Given the description of an element on the screen output the (x, y) to click on. 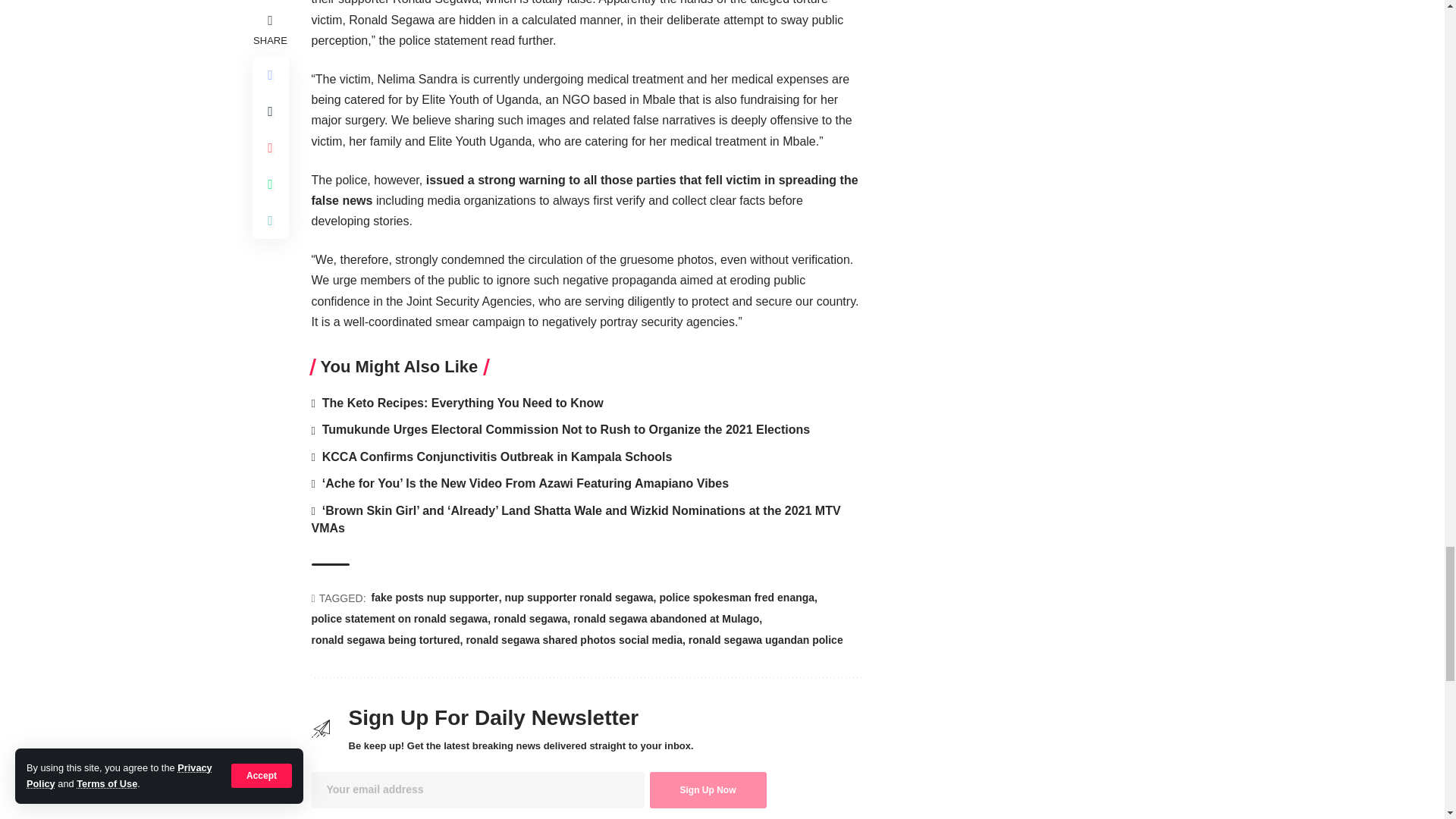
Sign Up Now (707, 790)
